Given the description of an element on the screen output the (x, y) to click on. 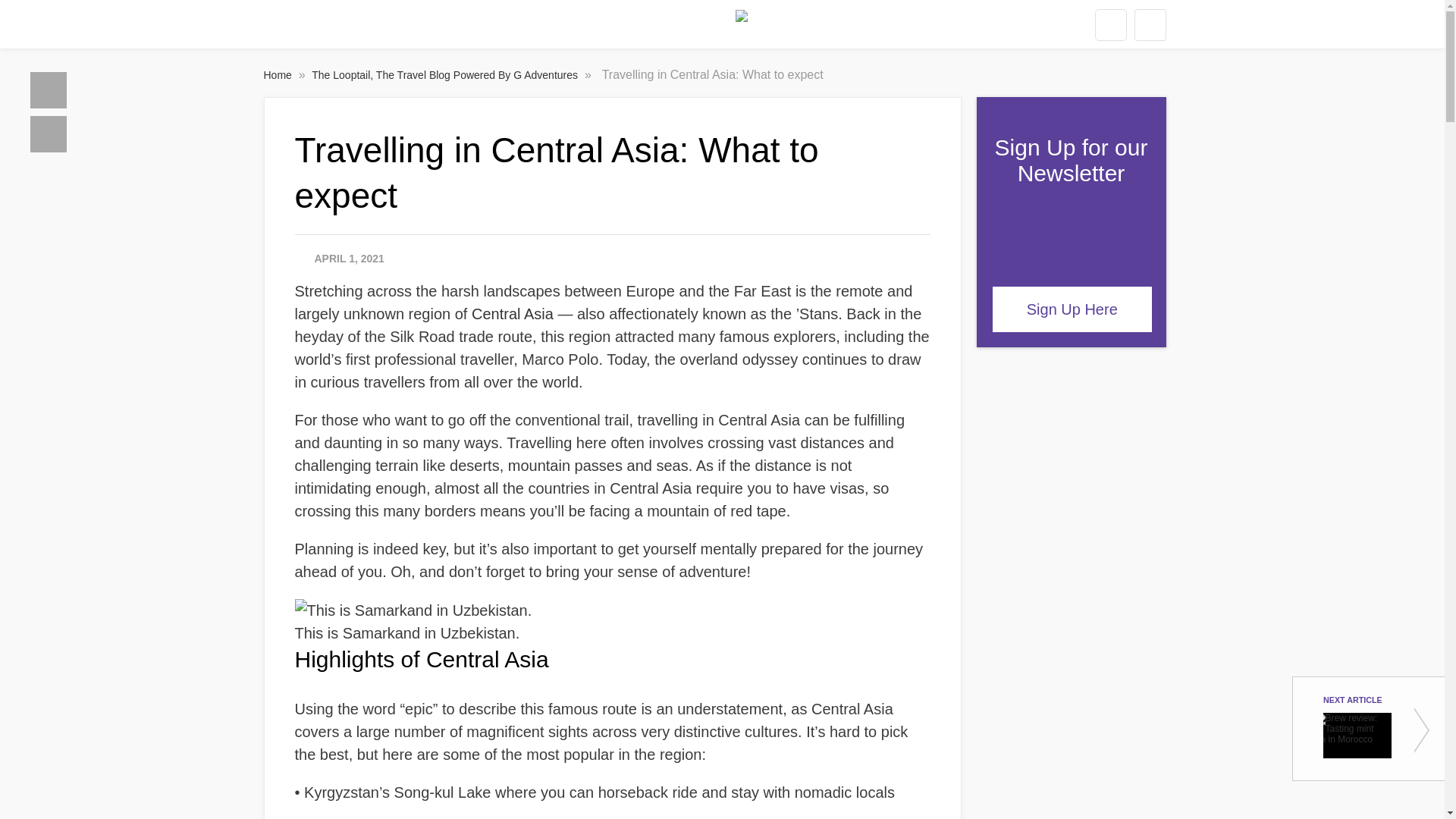
The Looptail, The Travel Blog Powered By G Adventures (445, 74)
Blogs (48, 134)
Home (48, 90)
Central Asia (512, 313)
Home (279, 74)
Sign Up Here (1071, 309)
